Given the description of an element on the screen output the (x, y) to click on. 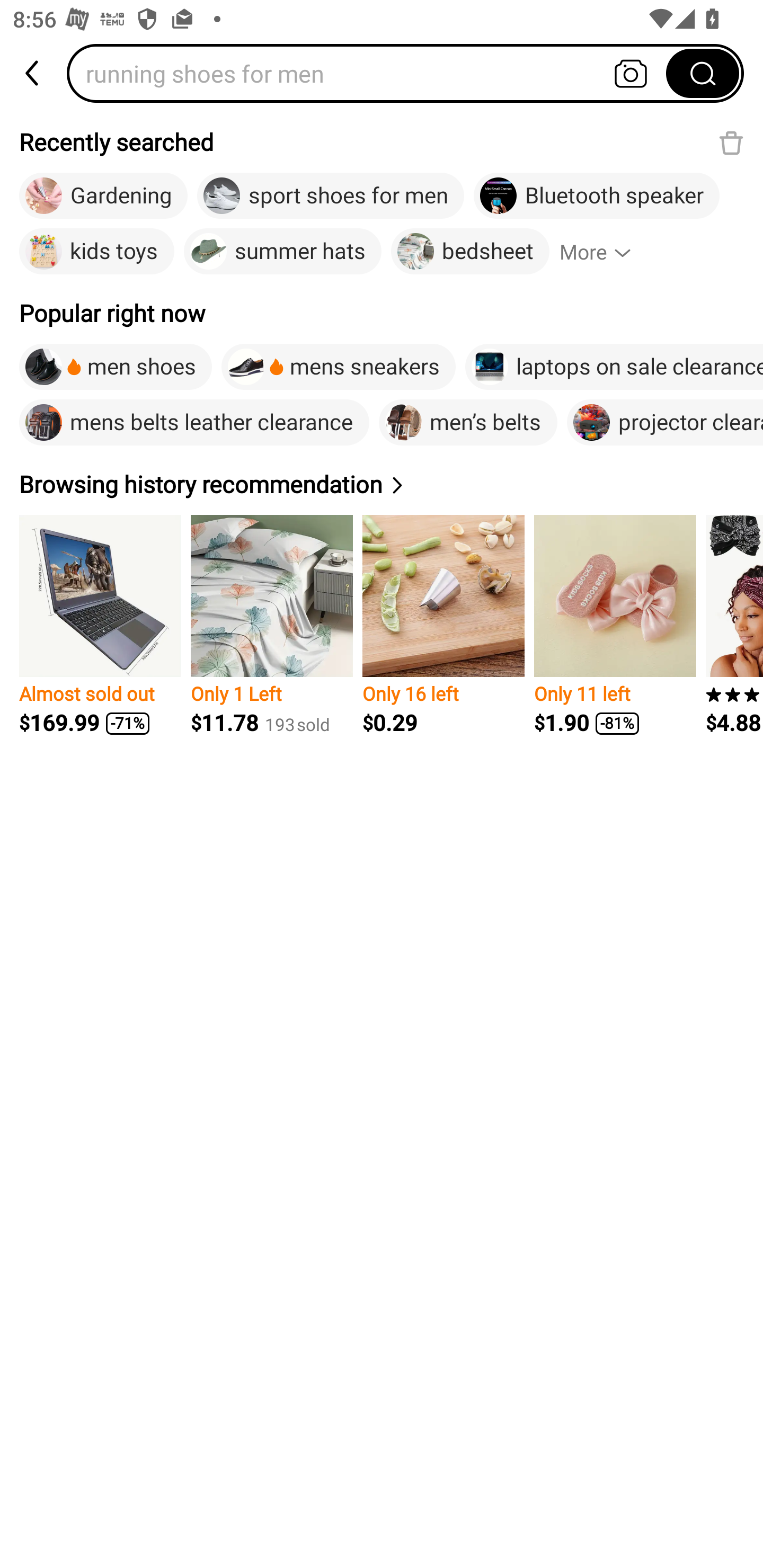
back (33, 72)
running shoes for men (372, 73)
Search by photo (630, 73)
Delete recent search (731, 142)
Gardening (103, 195)
sport shoes for men (329, 195)
Bluetooth speaker (596, 195)
kids toys (96, 251)
summer hats (282, 251)
bedsheet (469, 251)
More (603, 251)
men shoes (115, 366)
mens sneakers (338, 366)
laptops on sale clearance (614, 366)
mens belts leather clearance (194, 422)
men’s belts (468, 422)
projector clearance (664, 422)
Browsing history recommendation (213, 484)
Almost sold out $169.99 -71% (100, 625)
Only 1 Left $11.78 193￼sold (271, 625)
Only 16 left $0.29 (443, 625)
Only 11 left $1.90 -81% (614, 625)
